Given the description of an element on the screen output the (x, y) to click on. 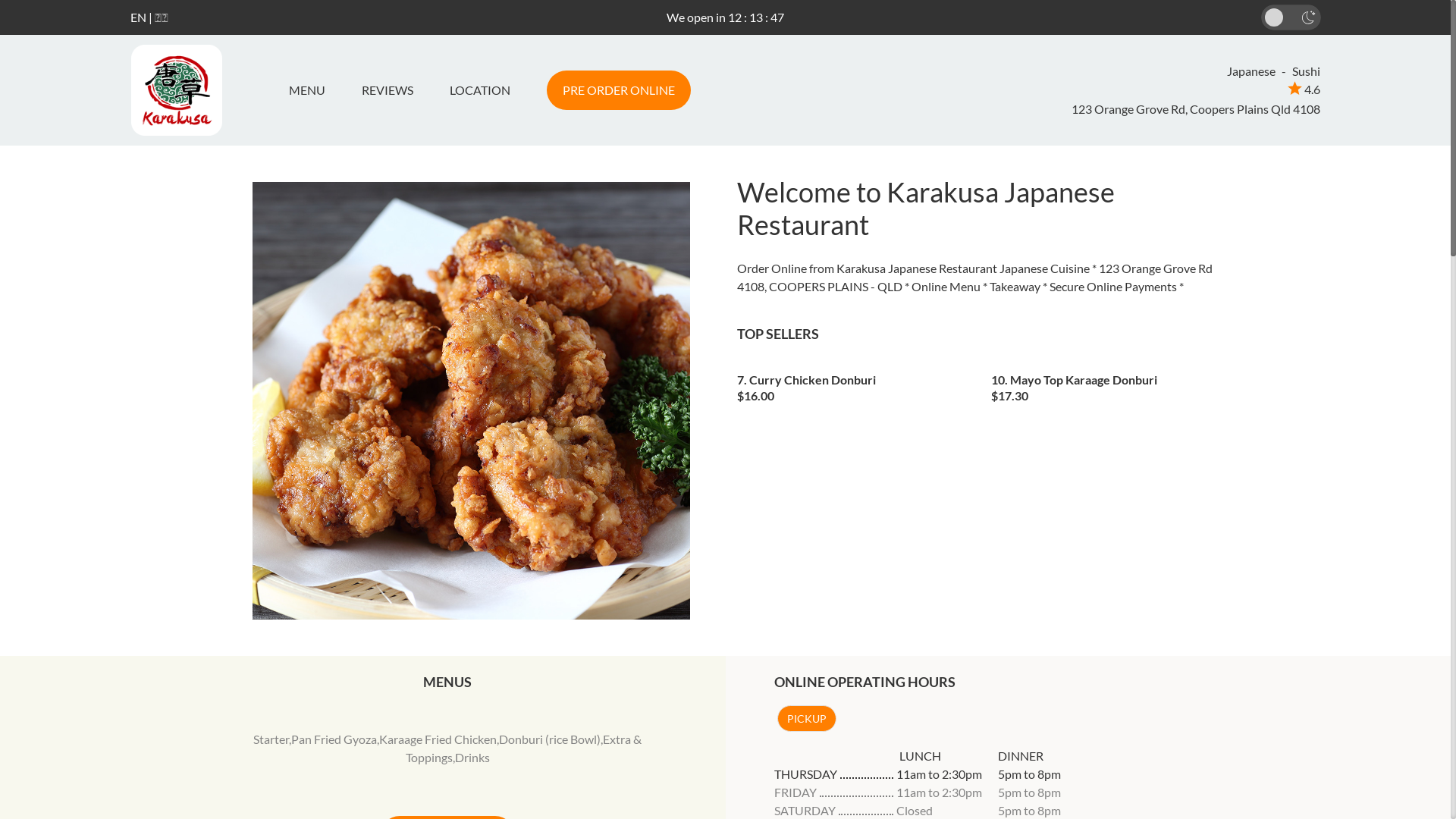
PRE ORDER ONLINE Element type: text (618, 89)
Starter Element type: text (270, 738)
4.6 Element type: text (1303, 88)
Karaage Fried Chicken Element type: text (437, 738)
Pan Fried Gyoza Element type: text (333, 738)
MENU Element type: text (312, 90)
Donburi (rice Bowl) Element type: text (549, 738)
Extra & Toppings Element type: text (523, 747)
PICKUP Element type: text (805, 718)
EN Element type: text (138, 16)
10. Mayo Top Karaage Donburi
$17.30 Element type: text (1107, 382)
REVIEWS Element type: text (386, 90)
LOCATION Element type: text (478, 90)
7. Curry Chicken Donburi
$16.00 Element type: text (853, 382)
Drinks Element type: text (472, 756)
